Given the description of an element on the screen output the (x, y) to click on. 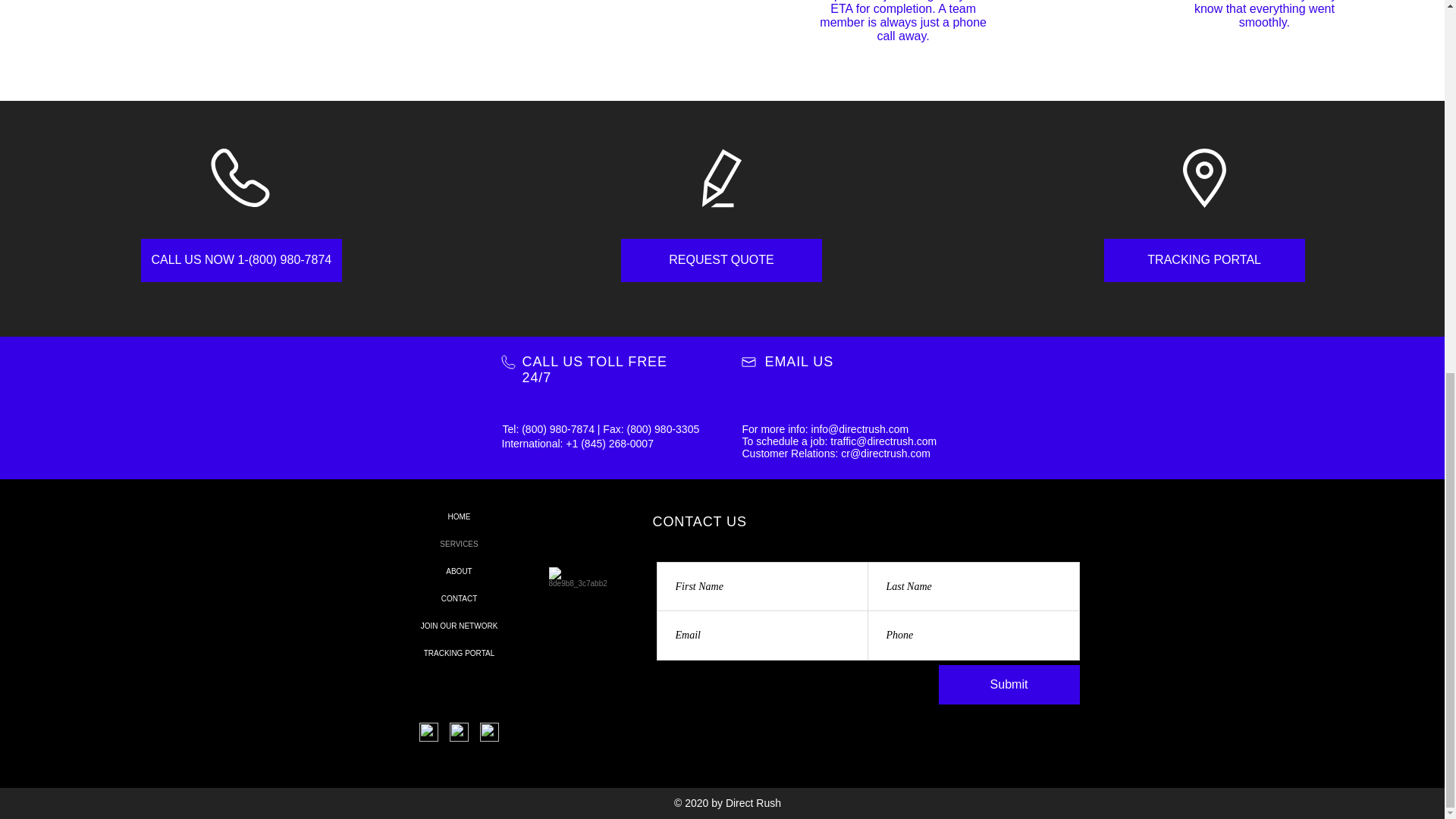
SERVICES (459, 543)
HOME (459, 516)
CONTACT (459, 598)
TRACKING PORTAL (1203, 260)
REQUEST QUOTE (721, 260)
ABOUT (459, 571)
